Given the description of an element on the screen output the (x, y) to click on. 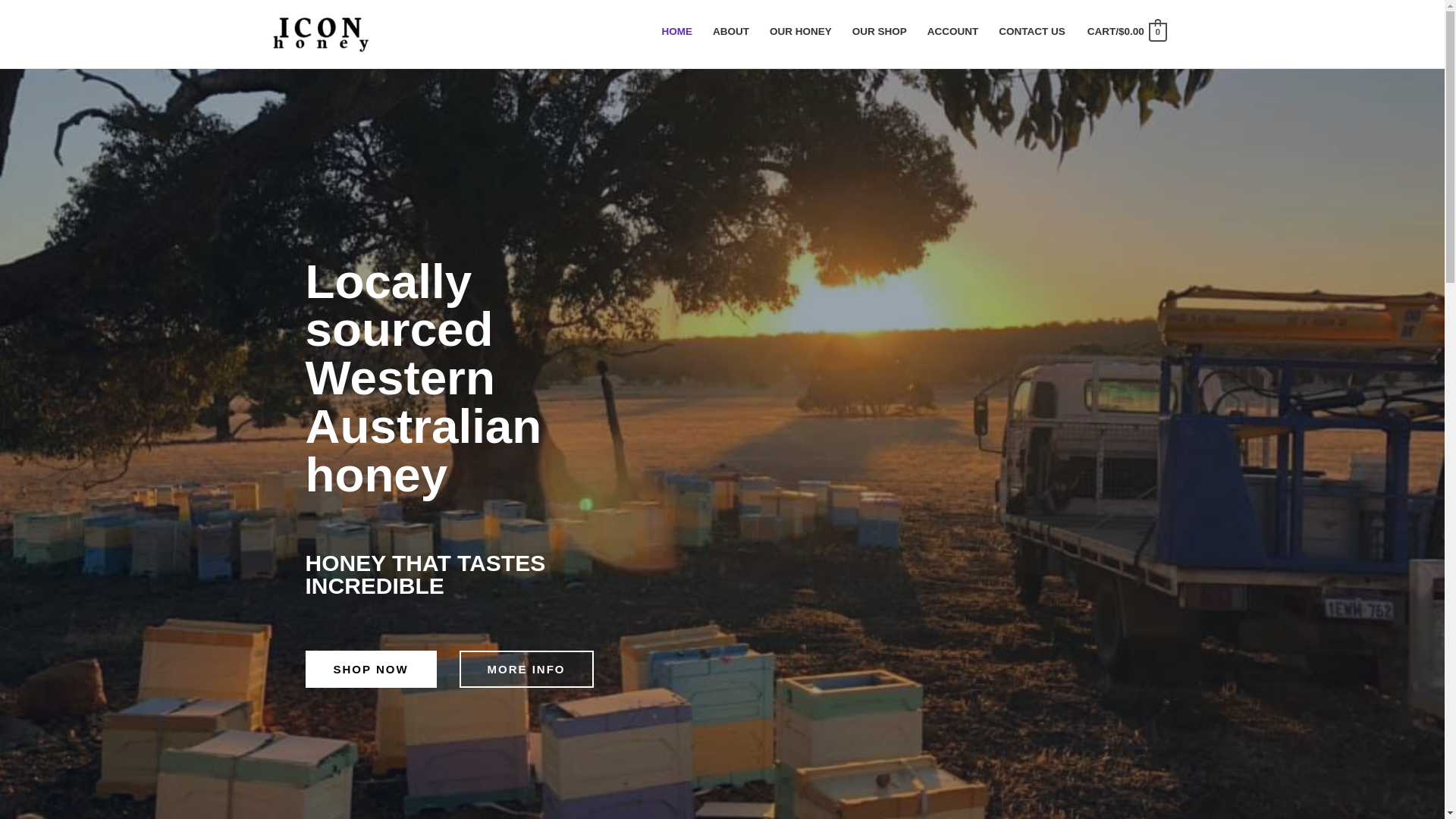
ABOUT Element type: text (730, 31)
SHOP NOW Element type: text (370, 668)
OUR HONEY Element type: text (800, 31)
OUR SHOP Element type: text (878, 31)
ACCOUNT Element type: text (952, 31)
CART/$0.00 0 Element type: text (1126, 31)
MORE INFO Element type: text (526, 668)
HOME Element type: text (676, 31)
CONTACT US Element type: text (1032, 31)
